Given the description of an element on the screen output the (x, y) to click on. 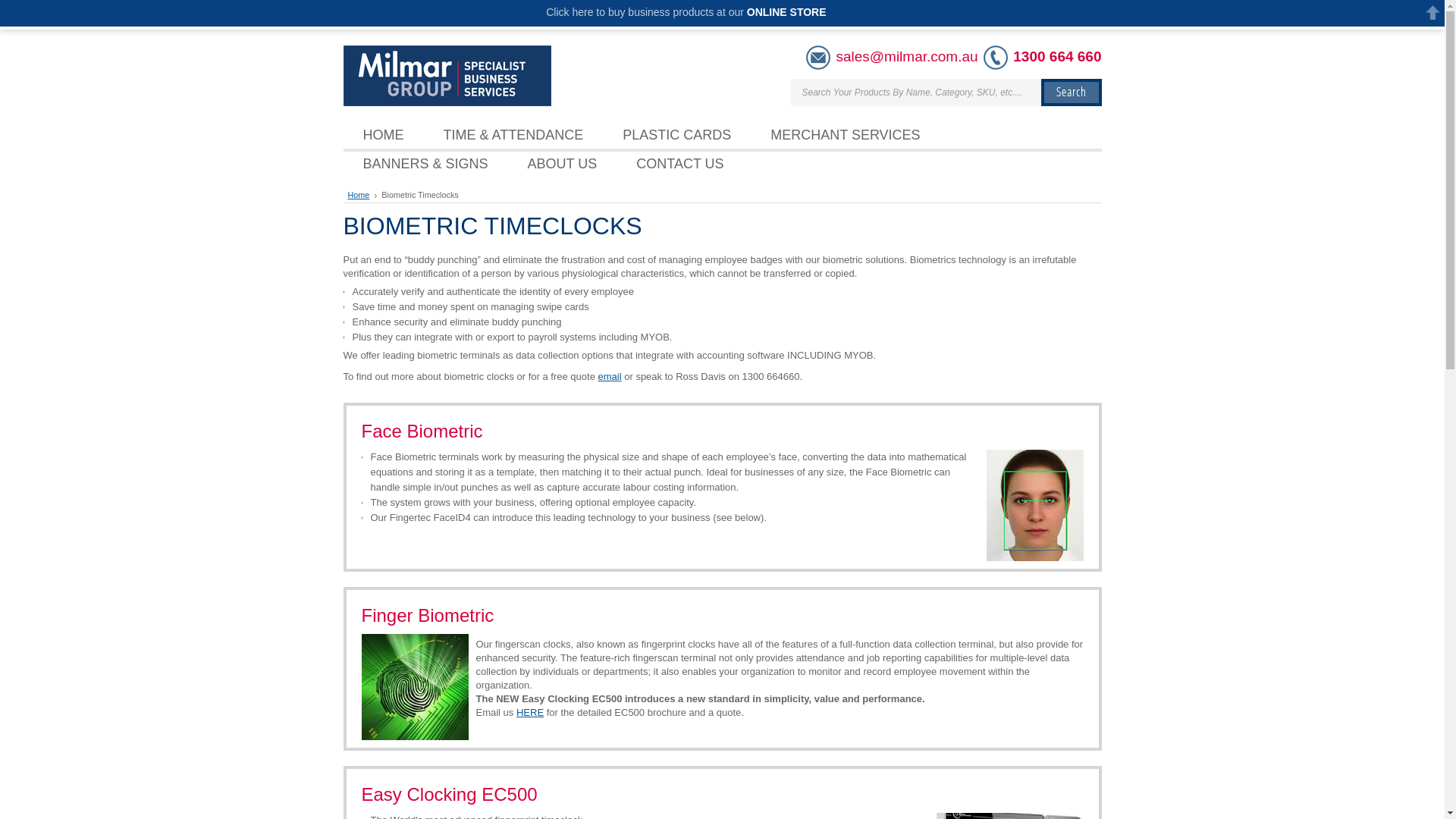
ABOUT US Element type: text (562, 163)
MERCHANT SERVICES Element type: text (844, 134)
HOME Element type: text (382, 134)
HERE Element type: text (529, 712)
email Element type: text (609, 376)
TIME & ATTENDANCE Element type: text (512, 134)
Home Element type: text (361, 194)
PLASTIC CARDS Element type: text (676, 134)
BANNERS & SIGNS Element type: text (424, 163)
ONLINE STORE Element type: text (786, 12)
CONTACT US Element type: text (679, 163)
sales@milmar.com.au Element type: text (906, 56)
